Given the description of an element on the screen output the (x, y) to click on. 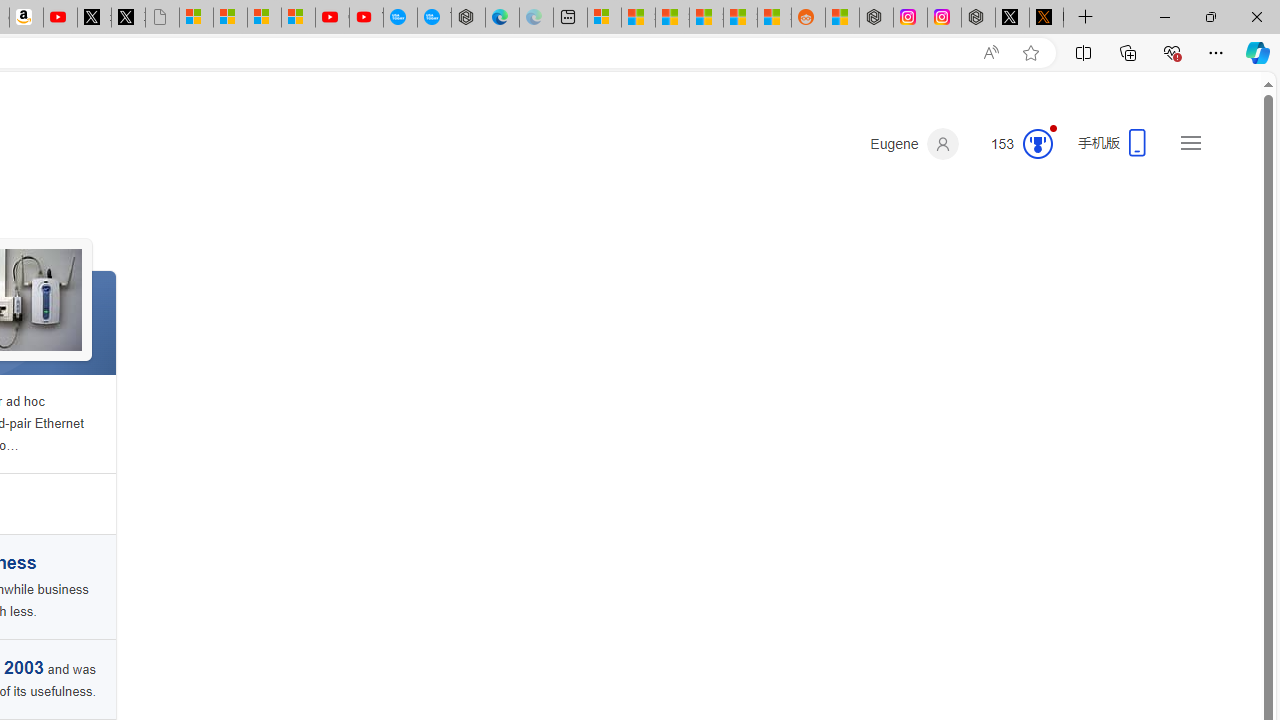
Shanghai, China weather forecast | Microsoft Weather (638, 17)
Nordace - Nordace has arrived Hong Kong (468, 17)
Microsoft Rewards 153 (1014, 143)
YouTube Kids - An App Created for Kids to Explore Content (365, 17)
Class: medal-circled (1037, 143)
